Given the description of an element on the screen output the (x, y) to click on. 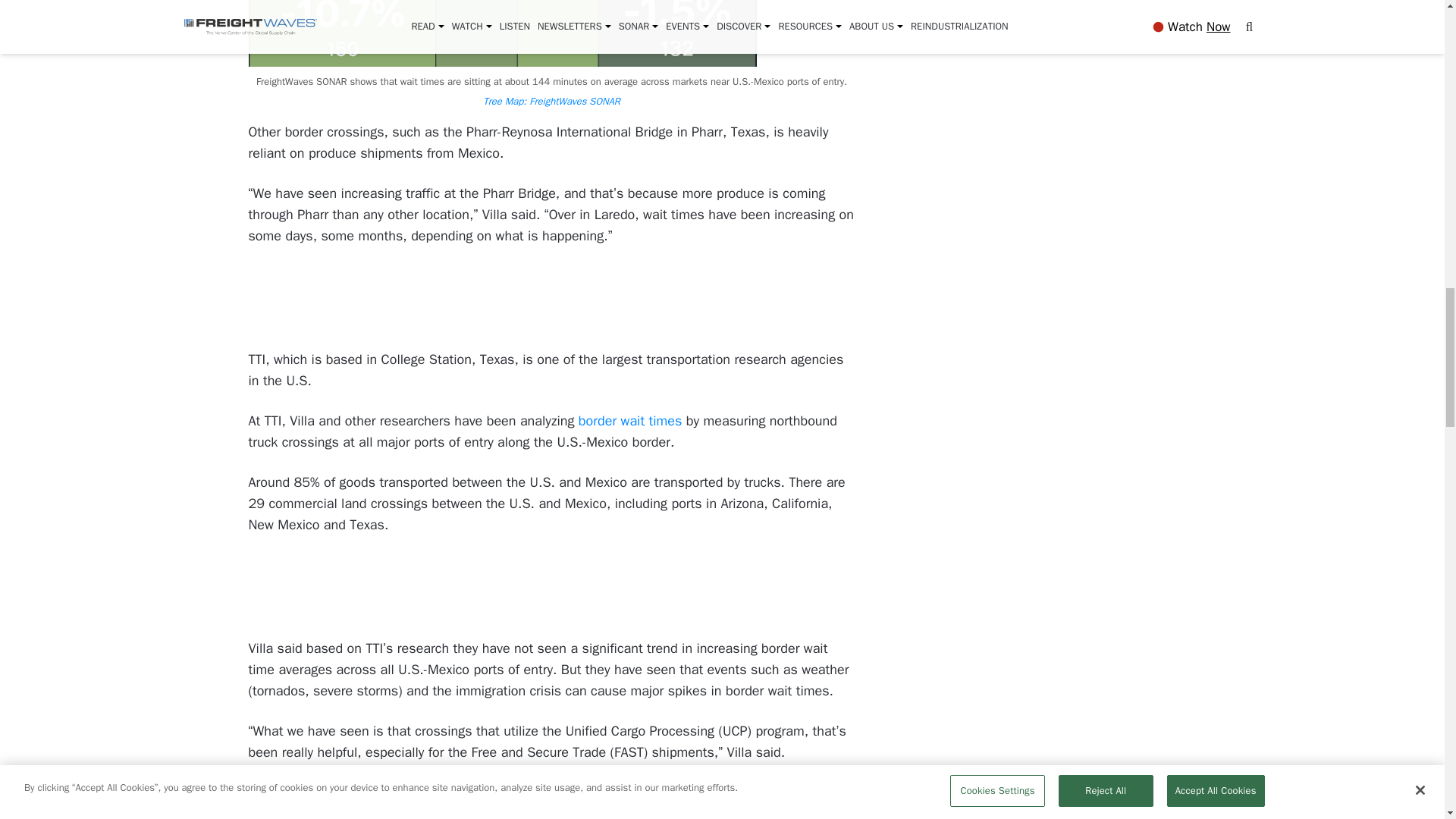
3rd party ad content (552, 299)
3rd party ad content (551, 588)
